Given the description of an element on the screen output the (x, y) to click on. 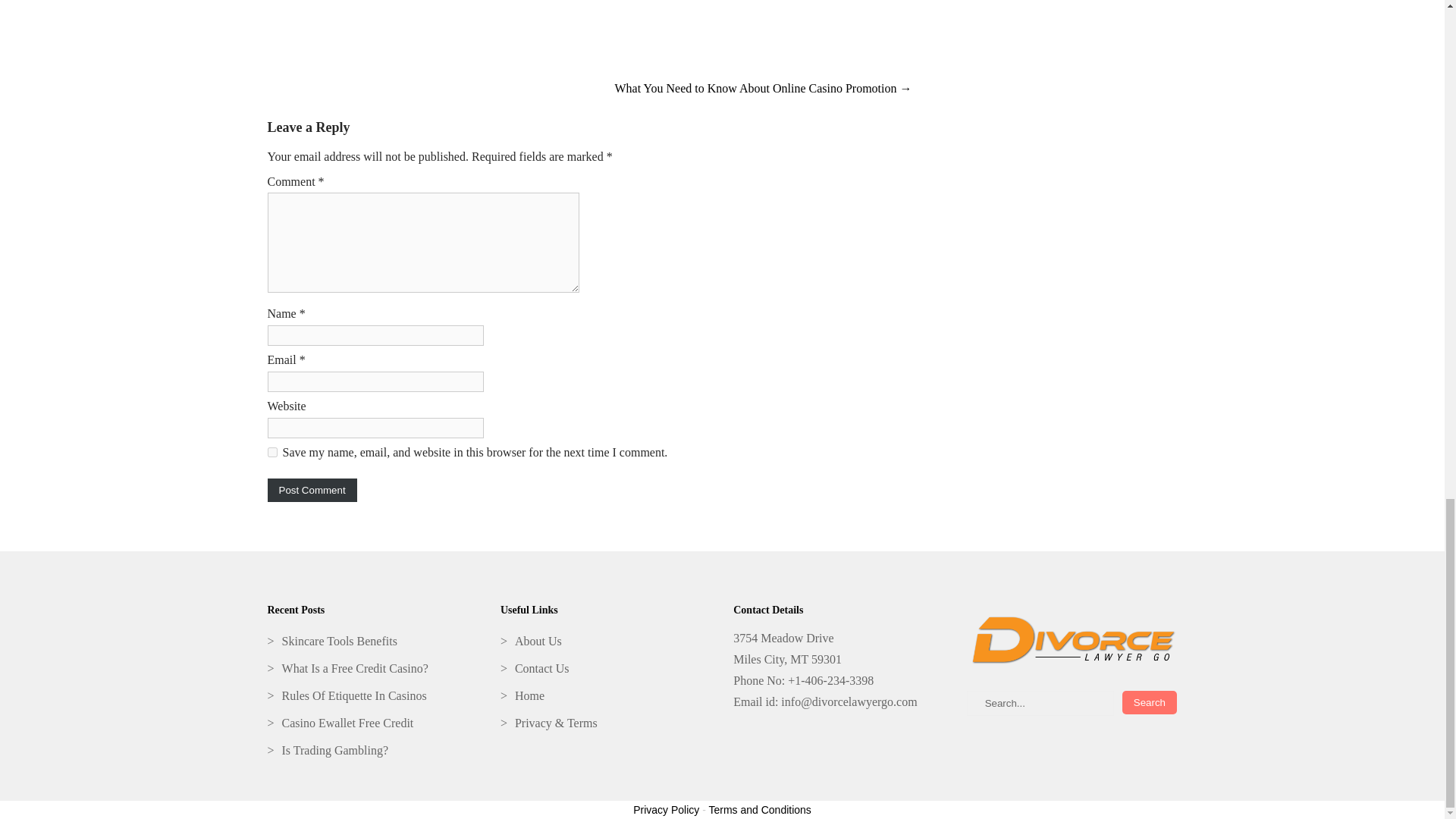
Skincare Tools Benefits (371, 641)
About Us (605, 641)
Search (1149, 702)
Casino Ewallet Free Credit  (371, 723)
yes (271, 452)
Rules Of Etiquette In Casinos (371, 696)
Search (1149, 702)
Terms and Conditions (758, 809)
Privacy Policy (665, 809)
Is Trading Gambling? (371, 750)
